Given the description of an element on the screen output the (x, y) to click on. 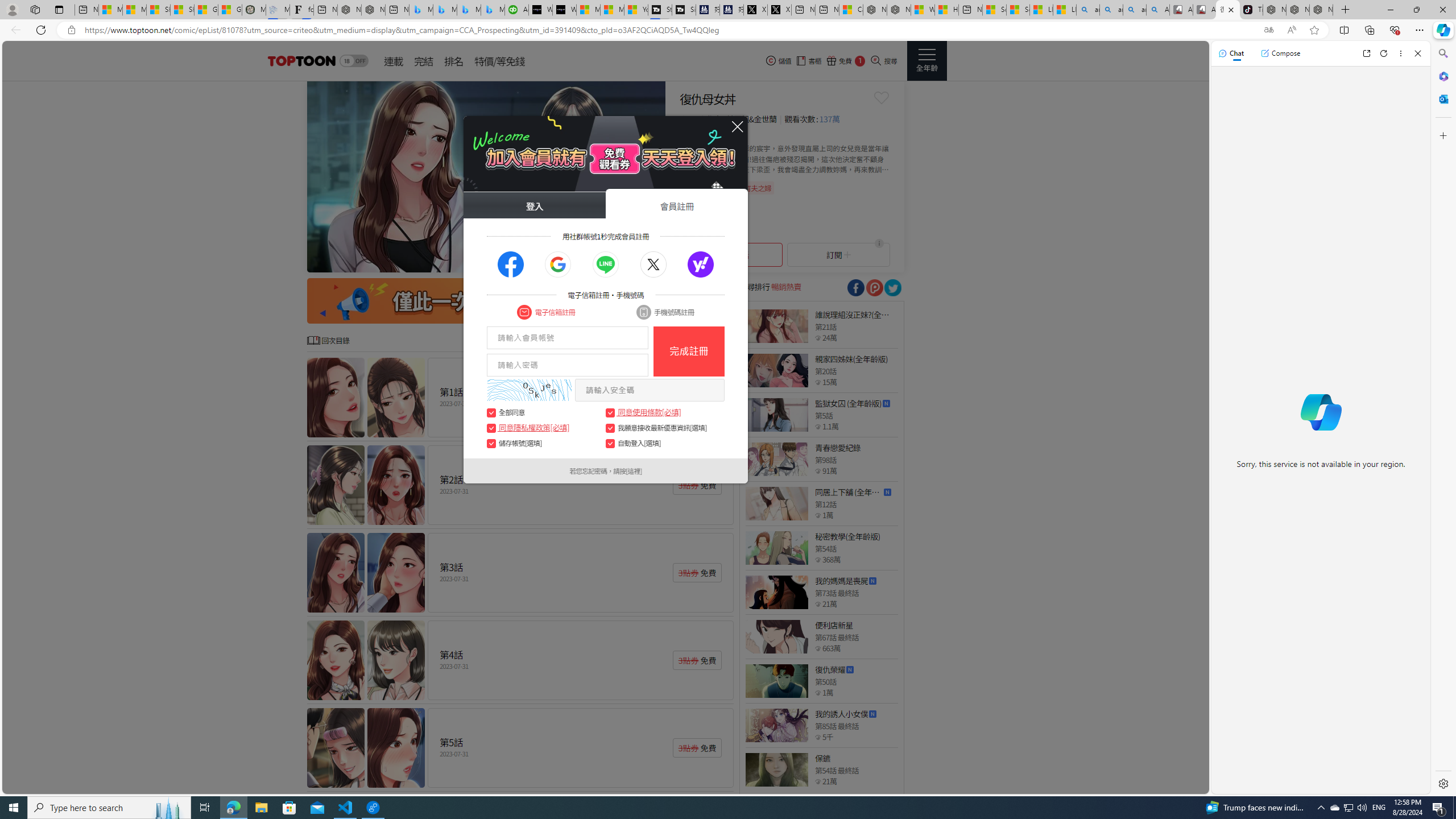
Class: swiper-slide (486, 176)
Accounting Software for Accountants, CPAs and Bookkeepers (515, 9)
